Given the description of an element on the screen output the (x, y) to click on. 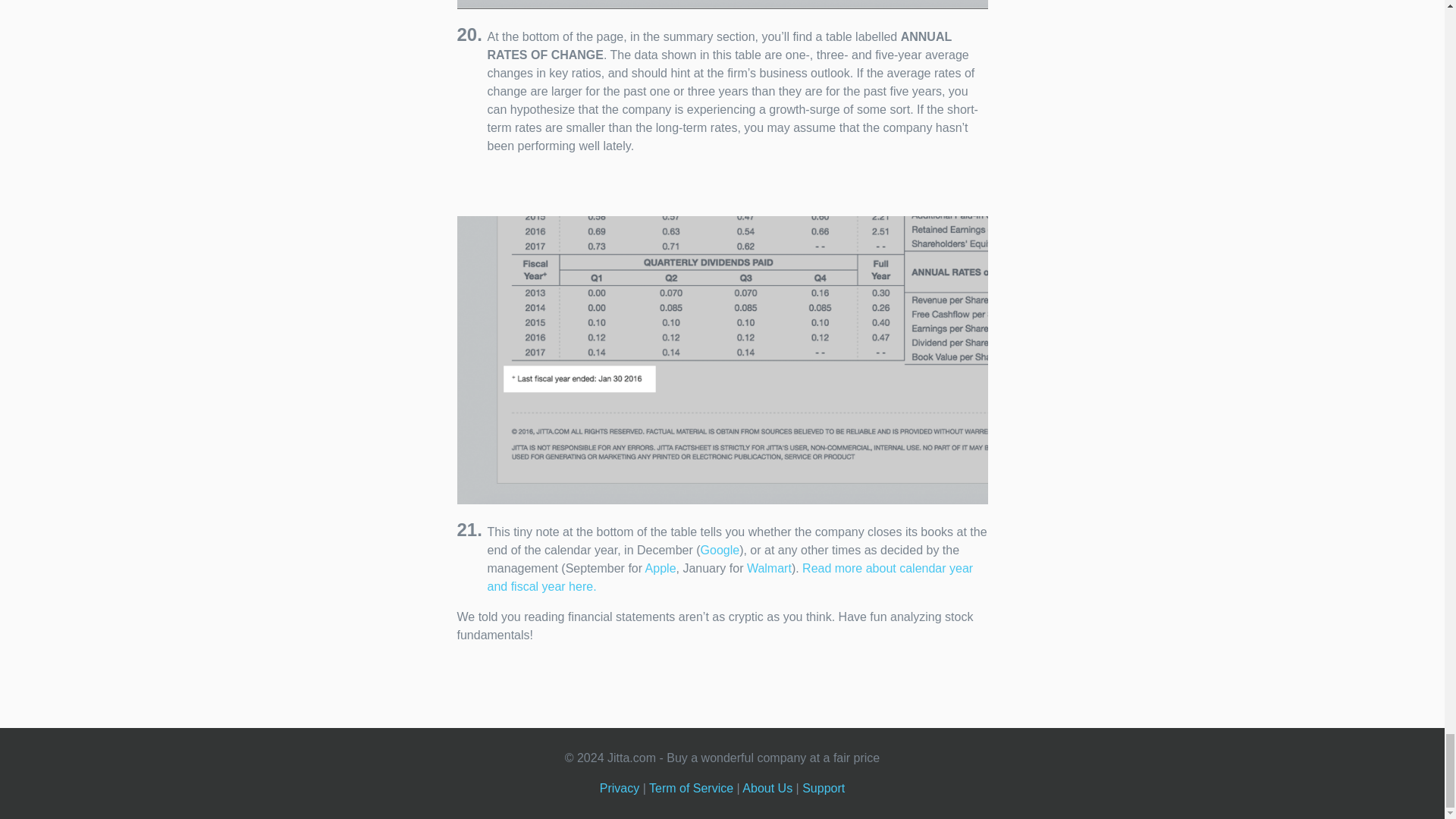
Privacy (619, 788)
Apple (661, 567)
Support (823, 788)
About Us (767, 788)
Google (719, 549)
Term of Service (691, 788)
Read more about calendar year and fiscal year here. (729, 576)
Walmart (769, 567)
